Given the description of an element on the screen output the (x, y) to click on. 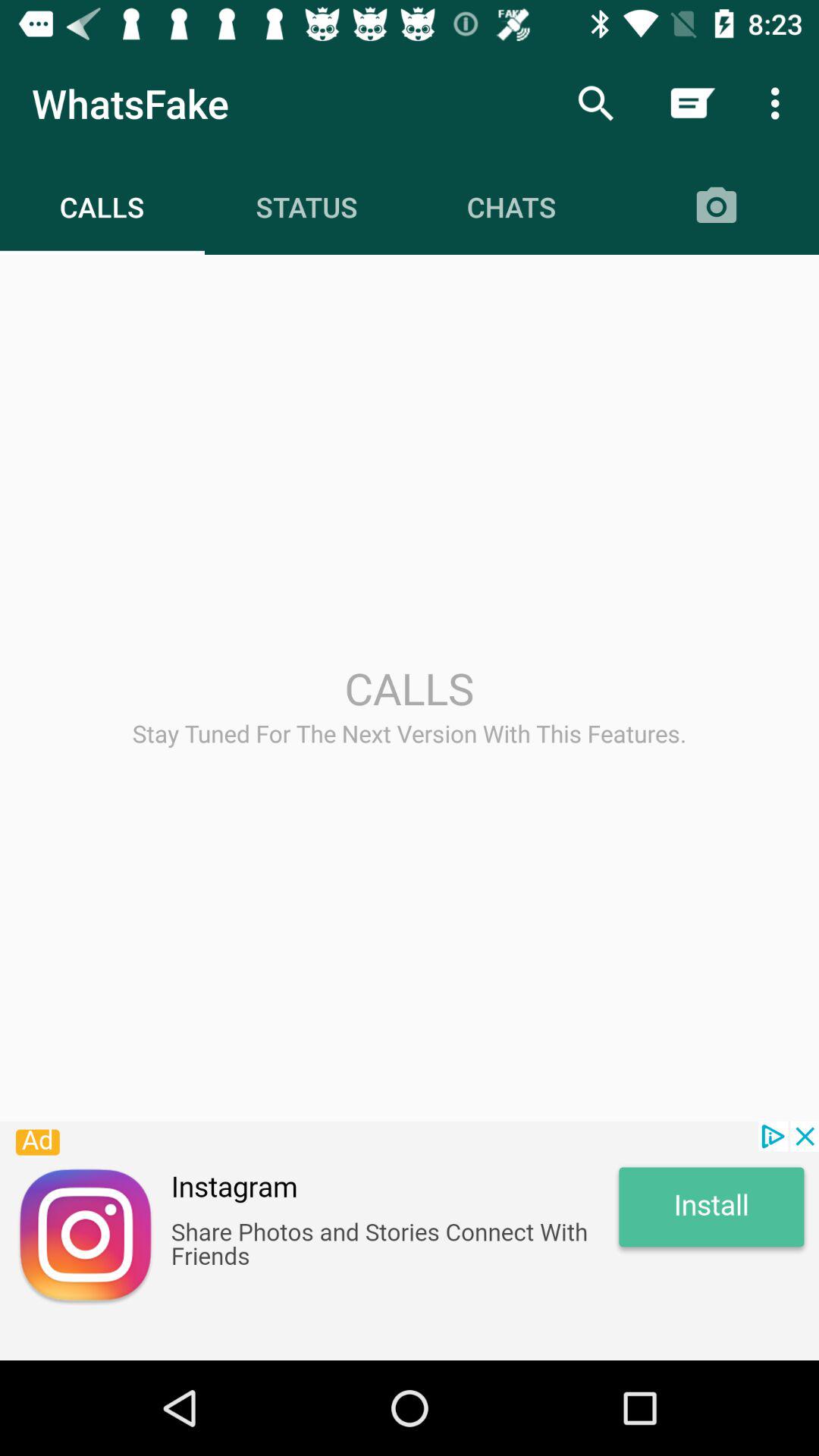
advertisement (409, 1240)
